Given the description of an element on the screen output the (x, y) to click on. 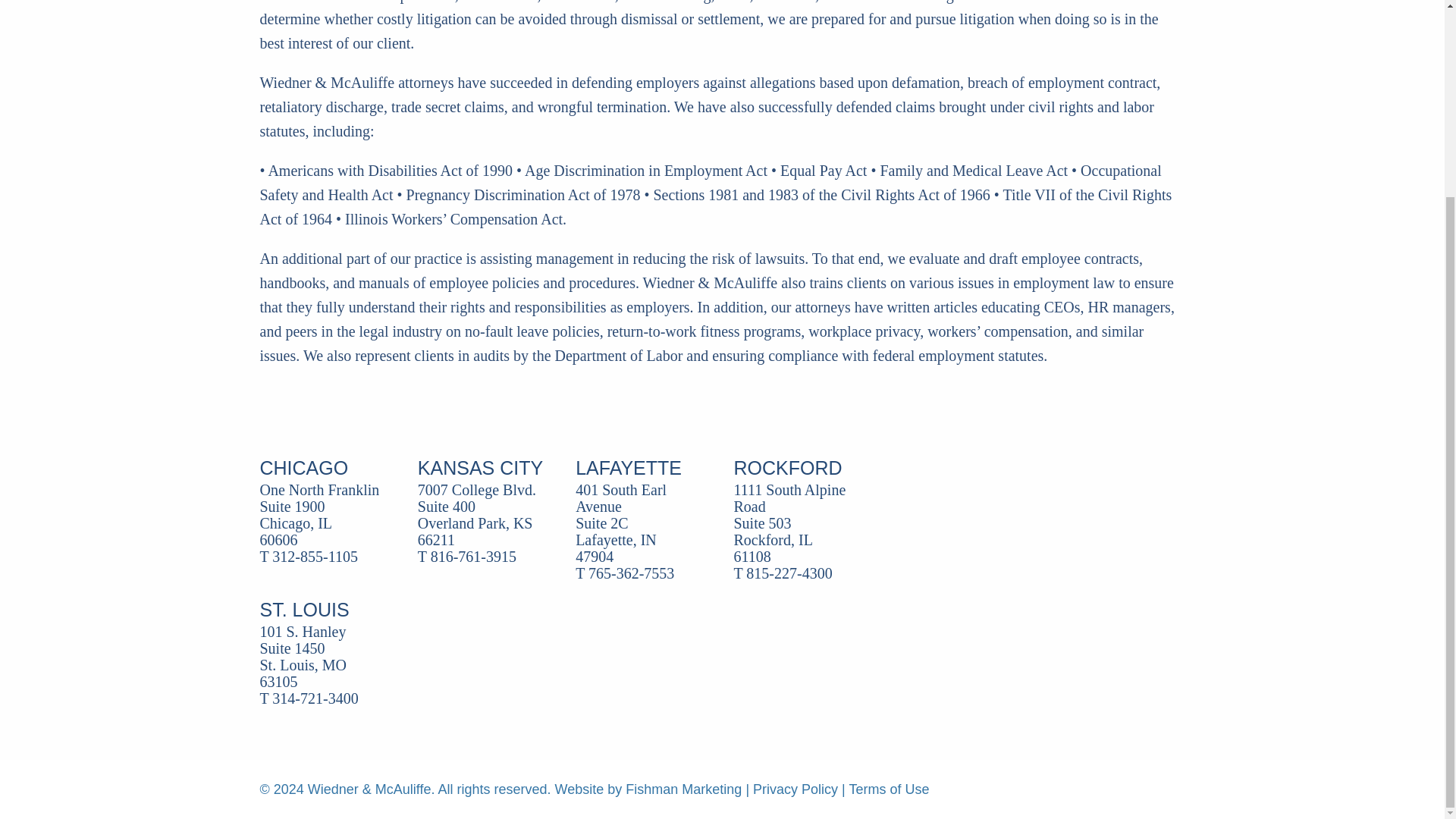
Terms of Use (888, 788)
Fishman Marketing (683, 788)
Privacy Policy (795, 788)
